Given the description of an element on the screen output the (x, y) to click on. 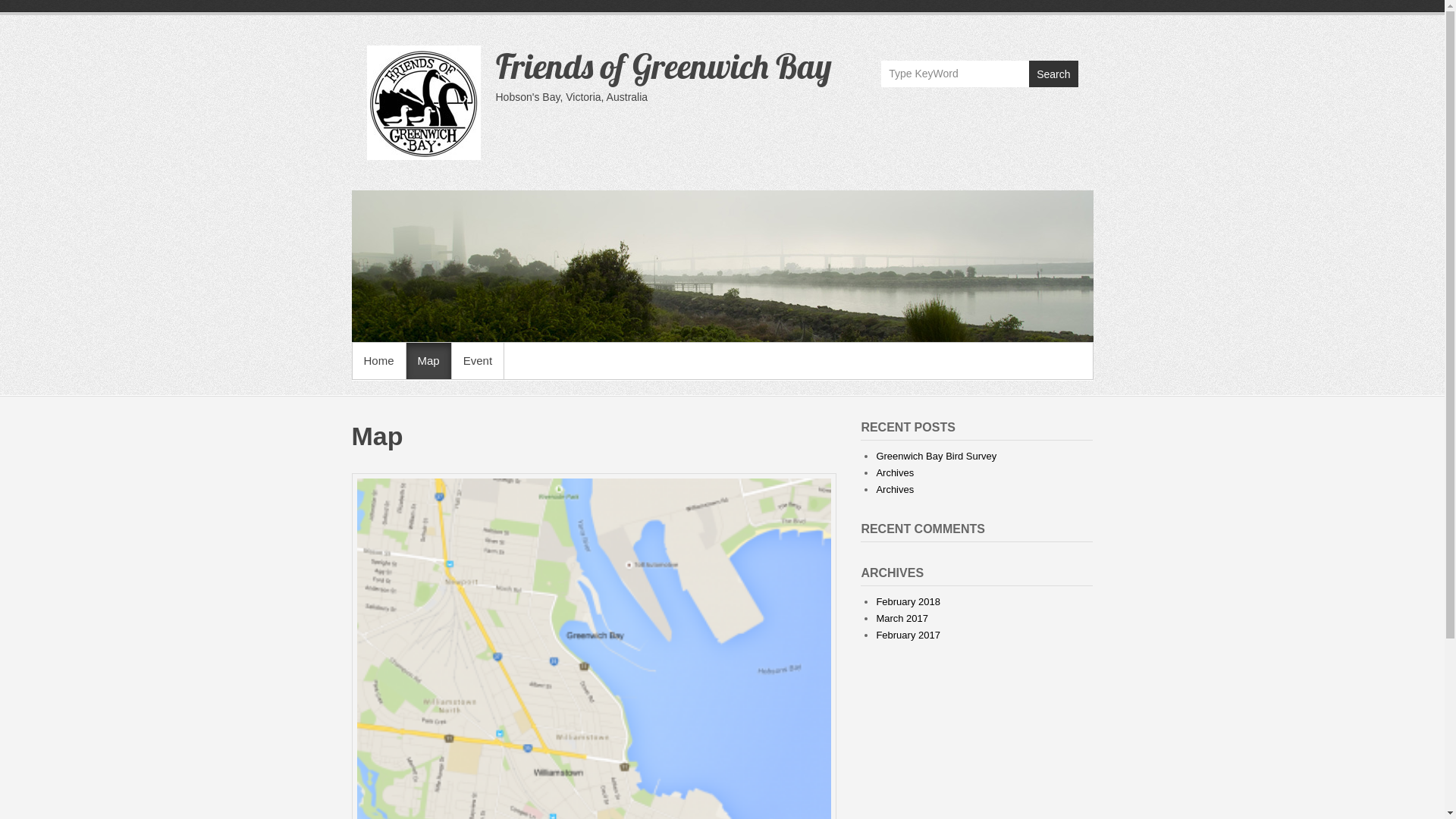
Type KeyWord Element type: hover (954, 73)
Archives Element type: text (894, 472)
Friends of Greenwich Bay Element type: text (663, 65)
Friends of Greenwich Bay Element type: hover (722, 266)
Greenwich Bay Bird Survey Element type: text (935, 455)
Event Element type: text (477, 360)
February 2017 Element type: text (907, 634)
Search Element type: text (1053, 73)
Home Element type: text (377, 360)
February 2018 Element type: text (907, 601)
Archives Element type: text (894, 489)
March 2017 Element type: text (901, 618)
Skip to content Element type: text (0, 0)
Map Element type: text (428, 360)
